Given the description of an element on the screen output the (x, y) to click on. 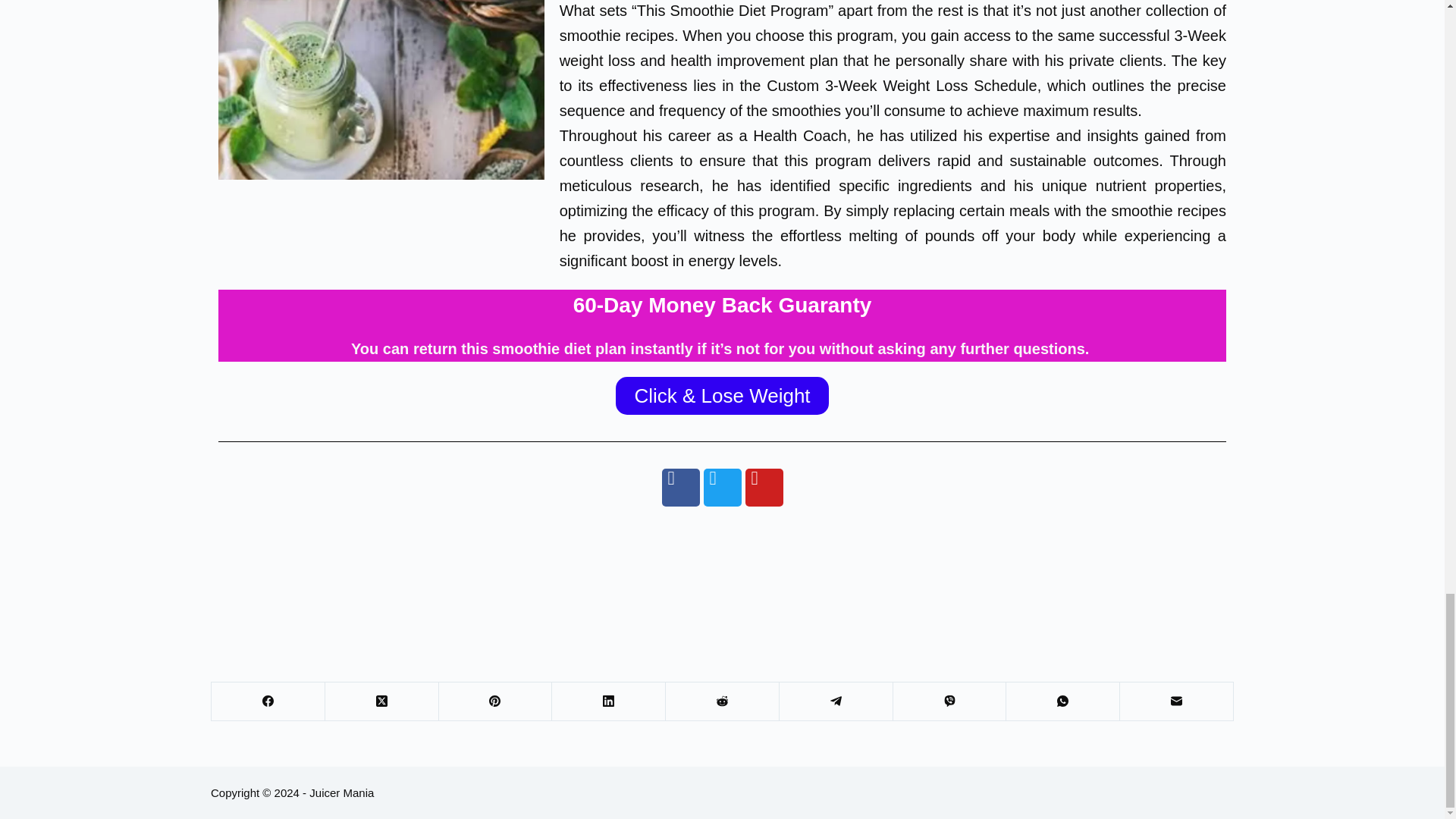
Discount Form (721, 578)
